Given the description of an element on the screen output the (x, y) to click on. 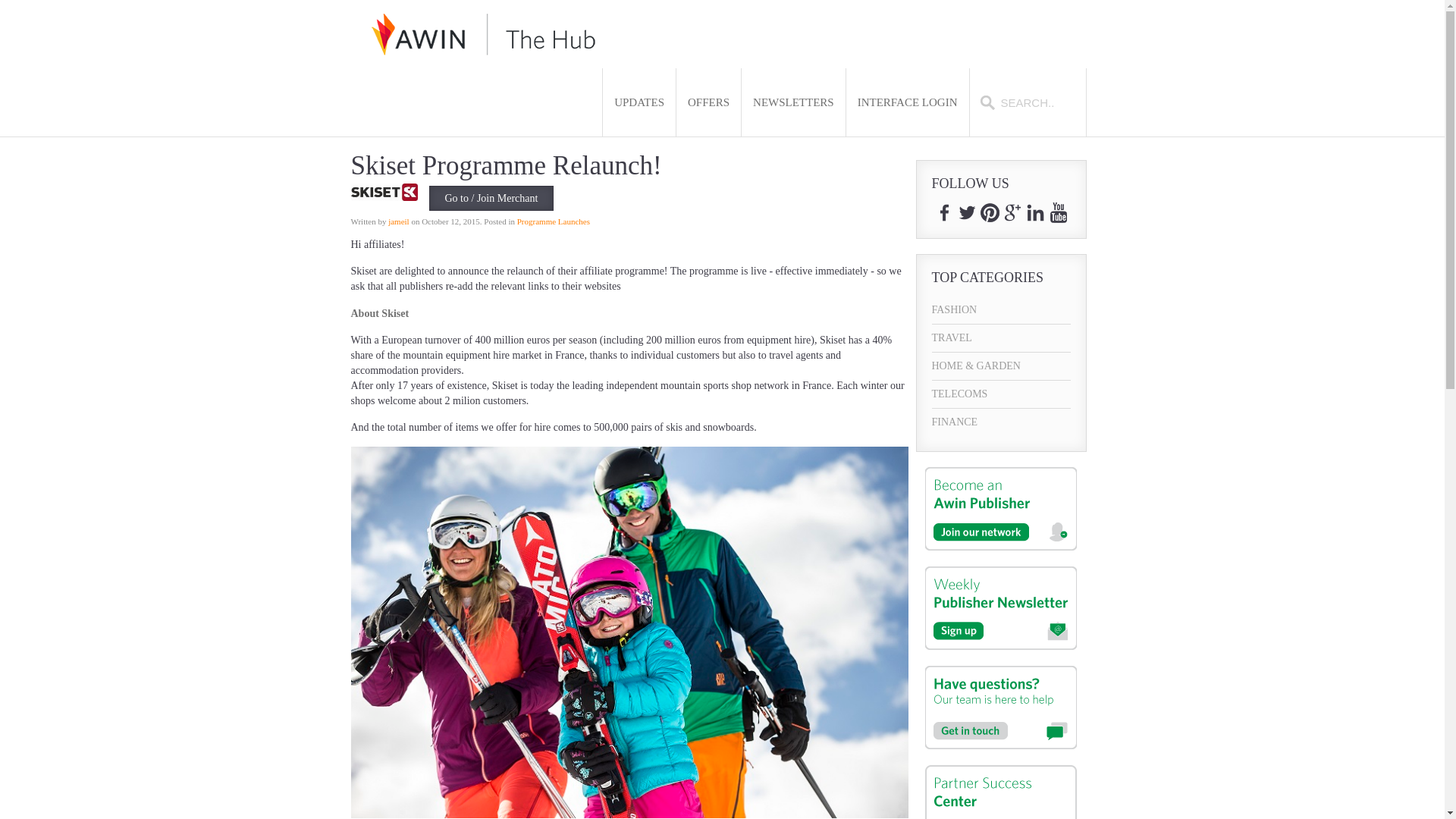
FASHION (1000, 309)
Reset (3, 2)
FINANCE (1000, 421)
Interface Login (907, 102)
TRAVEL (1000, 338)
TELECOMS (1000, 393)
jameil (398, 221)
INTERFACE LOGIN (907, 102)
jameil (398, 221)
Programme Launches (552, 221)
UPDATES (639, 102)
OFFERS (708, 102)
NEWSLETTERS (793, 102)
